Given the description of an element on the screen output the (x, y) to click on. 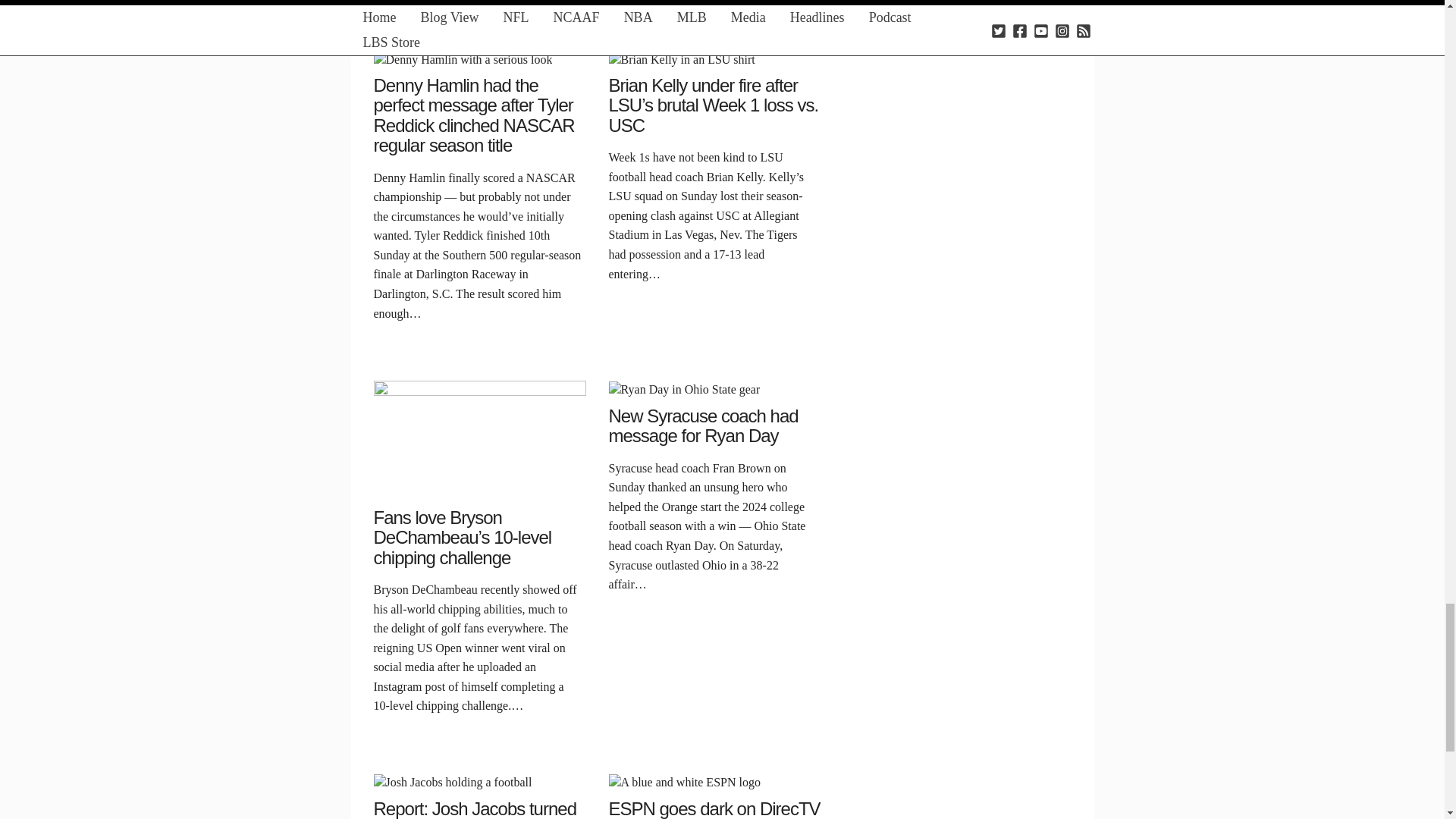
ESPN goes dark on DirecTV moments before huge game (684, 780)
New Syracuse coach had message for Ryan Day (684, 388)
